Given the description of an element on the screen output the (x, y) to click on. 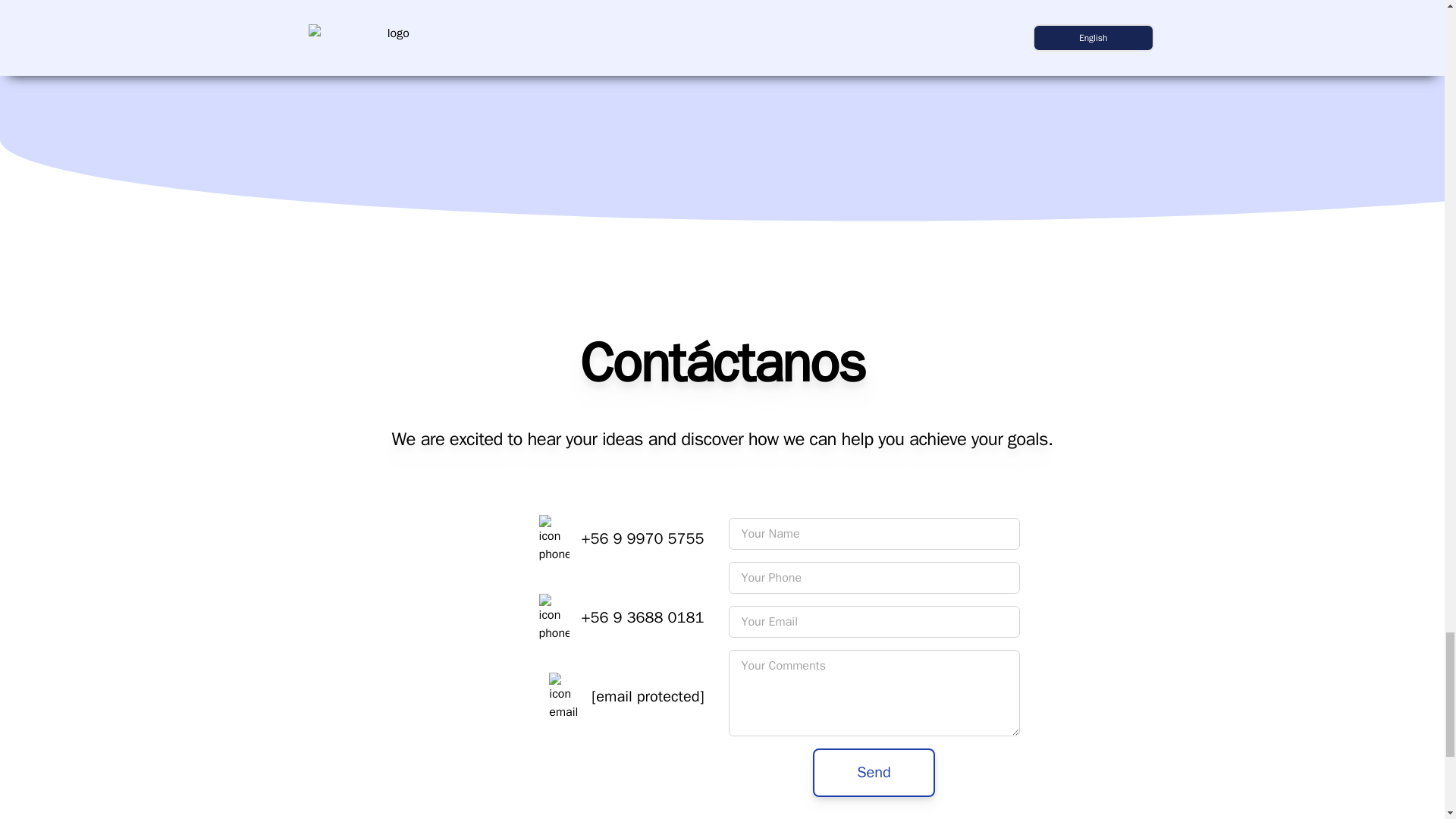
Send (873, 772)
